Given the description of an element on the screen output the (x, y) to click on. 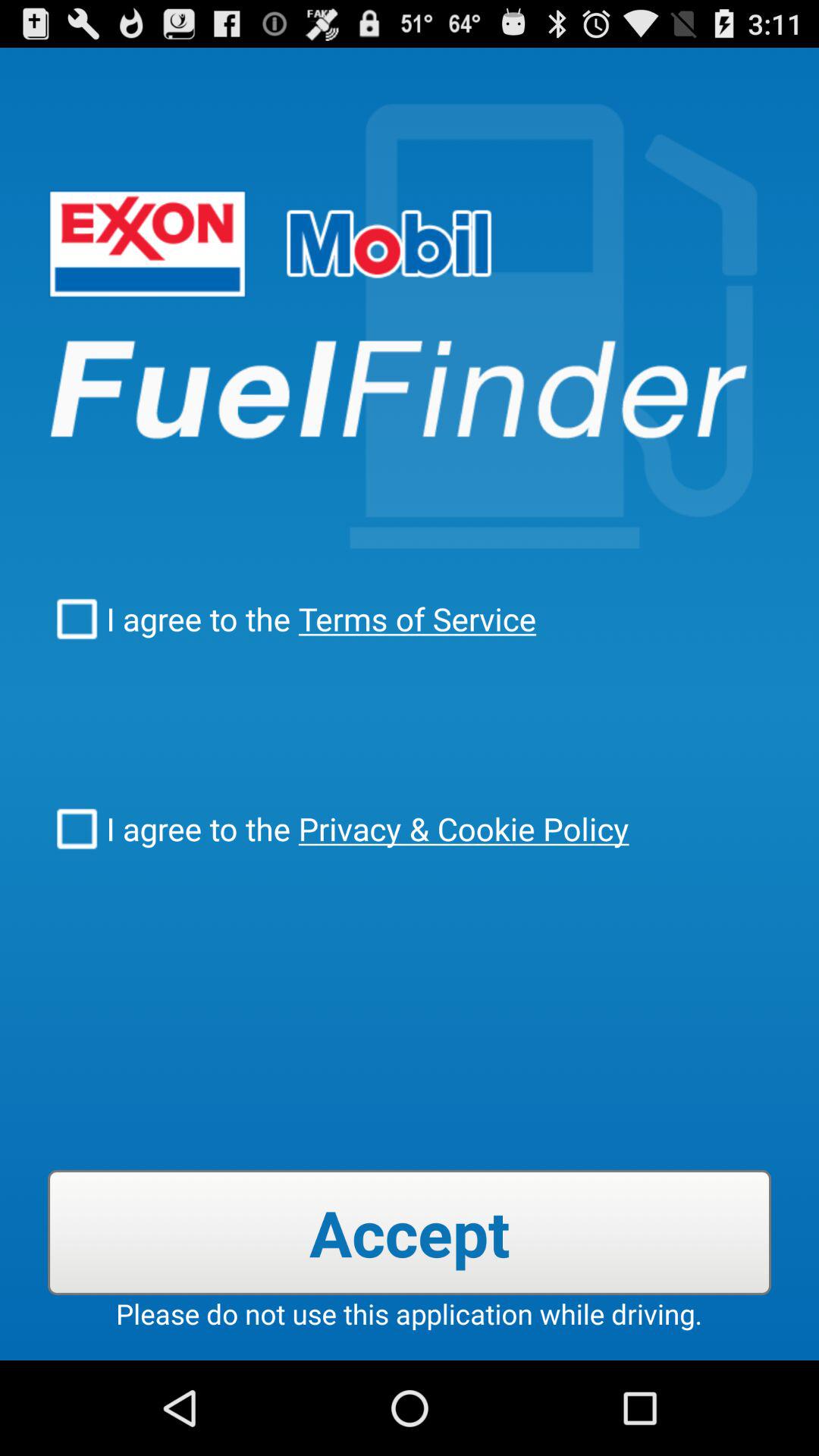
choose checkbox below the i agree to item (459, 828)
